Given the description of an element on the screen output the (x, y) to click on. 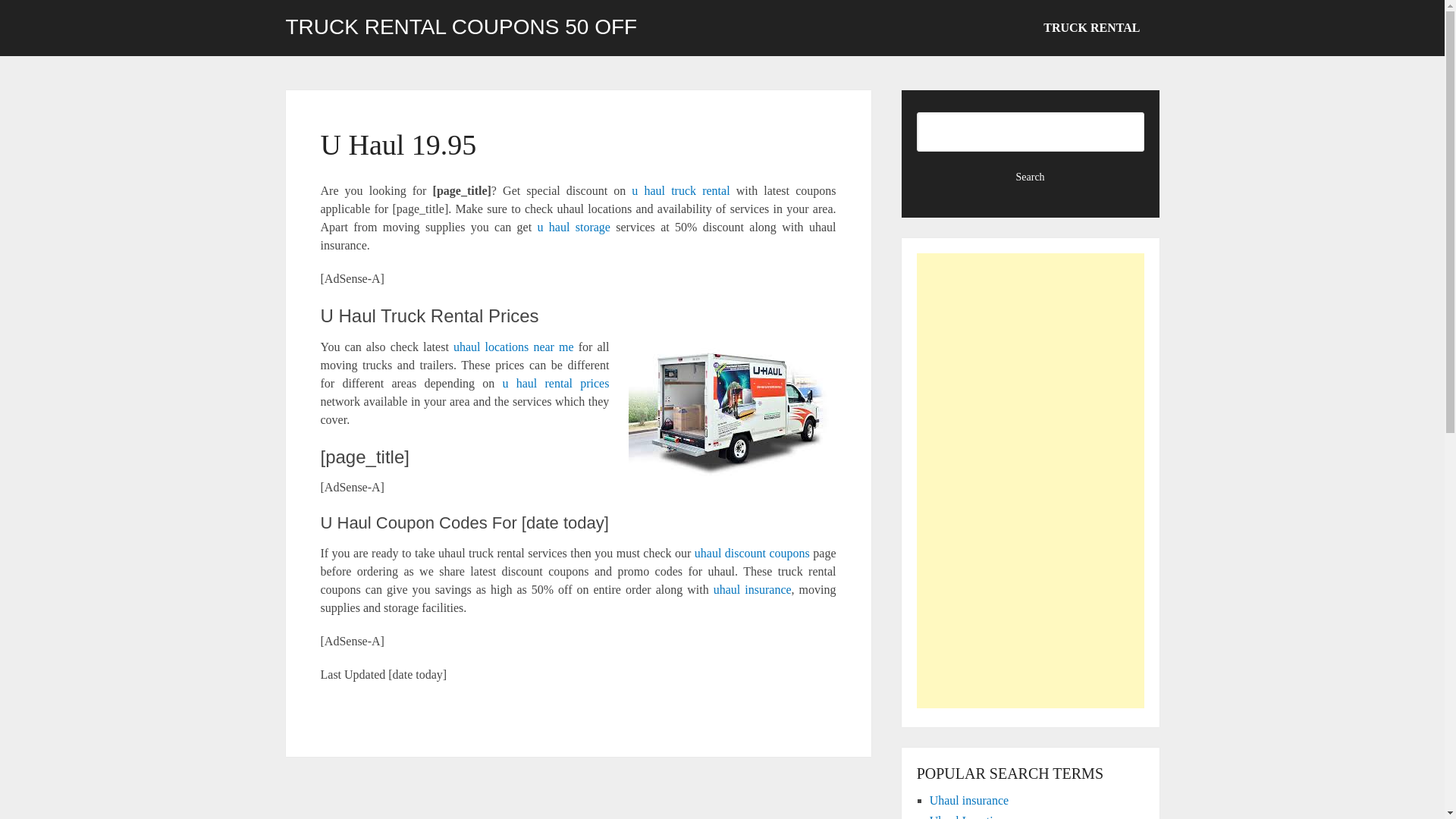
TRUCK RENTAL COUPONS 50 OFF (461, 26)
Uhaul insurance (969, 799)
u haul storage (573, 226)
Search (1030, 176)
u haul rental prices (556, 382)
Uhaul Locations (970, 816)
TRUCK RENTAL (1091, 28)
uhaul insurance (752, 589)
Search (1030, 176)
uhaul locations near me (512, 346)
uhaul discount coupons (751, 553)
u haul truck rental (680, 190)
